Given the description of an element on the screen output the (x, y) to click on. 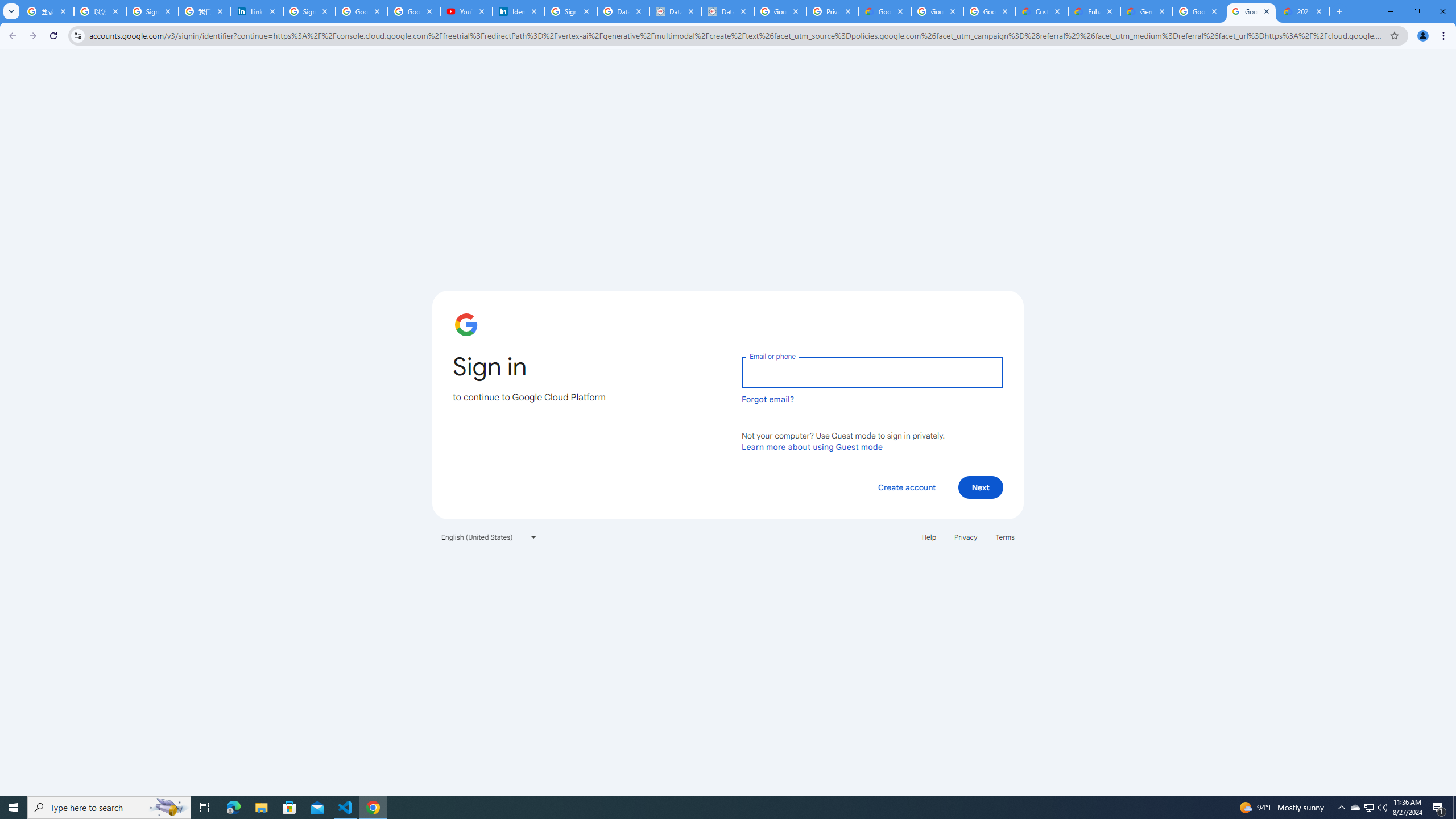
Customer Care | Google Cloud (1041, 11)
Data Privacy Framework (727, 11)
Data Privacy Framework (676, 11)
Sign in - Google Accounts (571, 11)
